Given the description of an element on the screen output the (x, y) to click on. 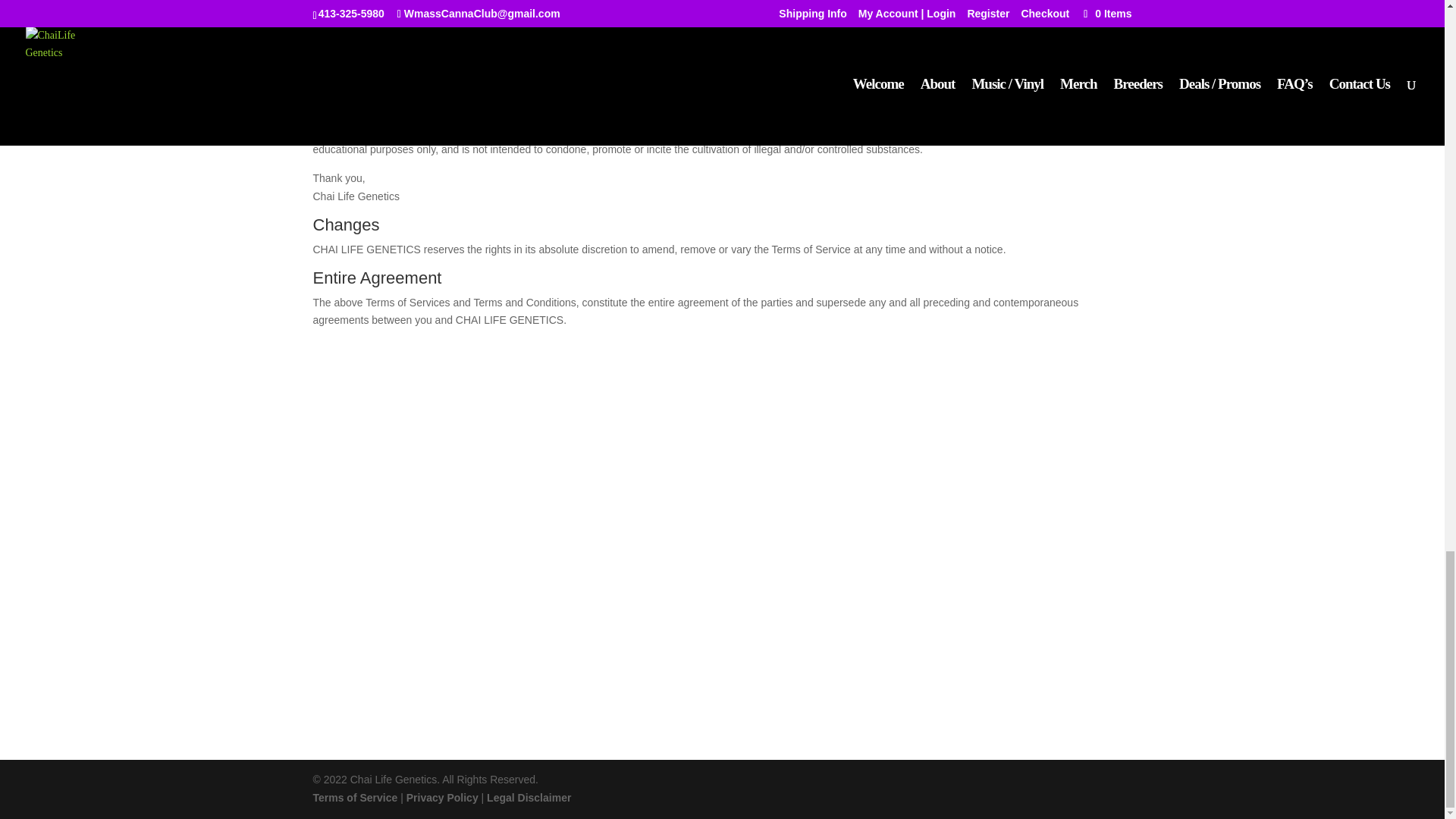
Legal Disclaimer (528, 797)
Terms of Service (355, 797)
Privacy Policy (442, 797)
